Given the description of an element on the screen output the (x, y) to click on. 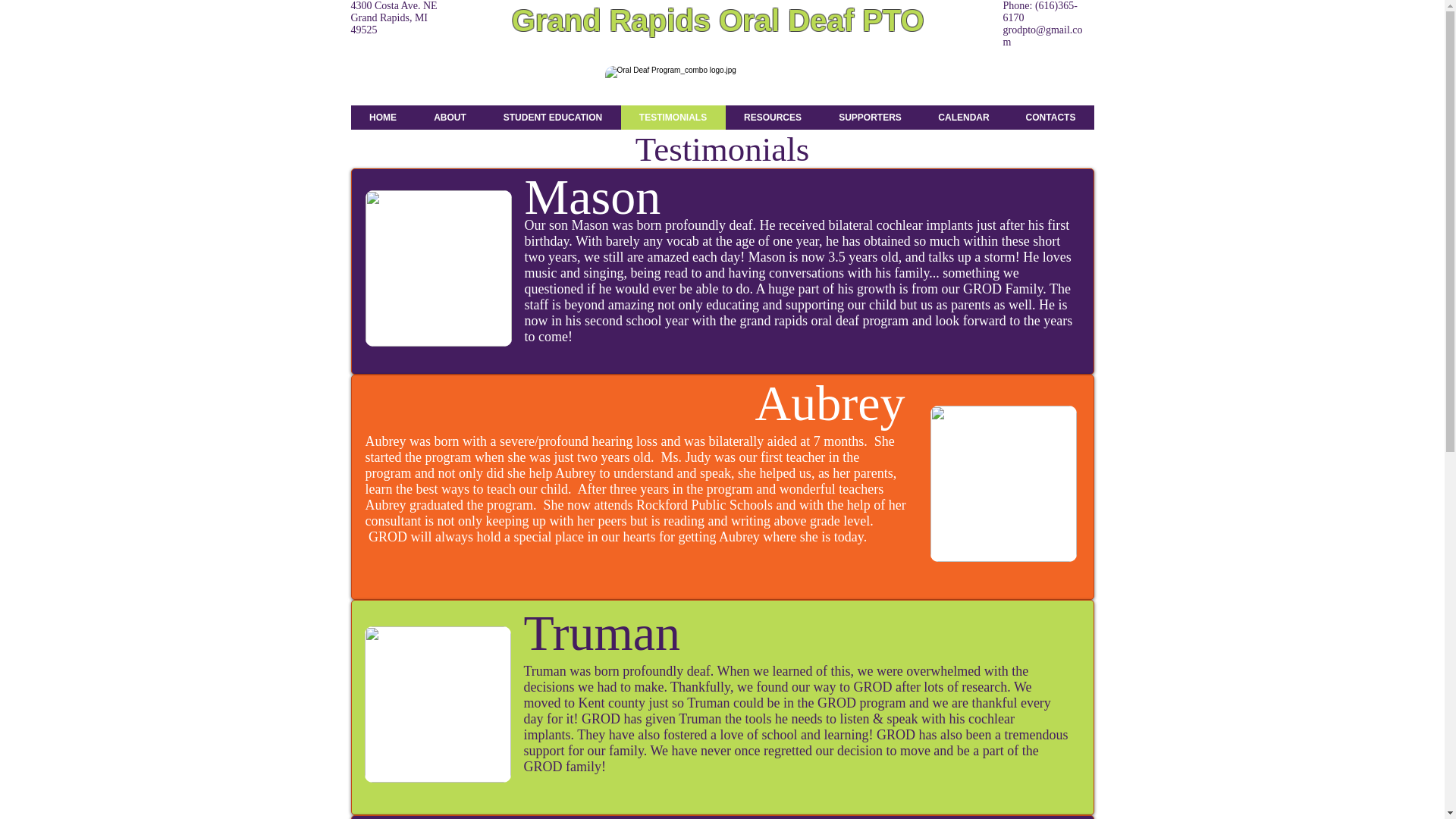
TESTIMONIALS (672, 117)
CALENDAR (963, 117)
RESOURCES (772, 117)
SUPPORTERS (870, 117)
HOME (382, 117)
STUDENT EDUCATION (552, 117)
ABOUT (449, 117)
CONTACTS (1050, 117)
